Given the description of an element on the screen output the (x, y) to click on. 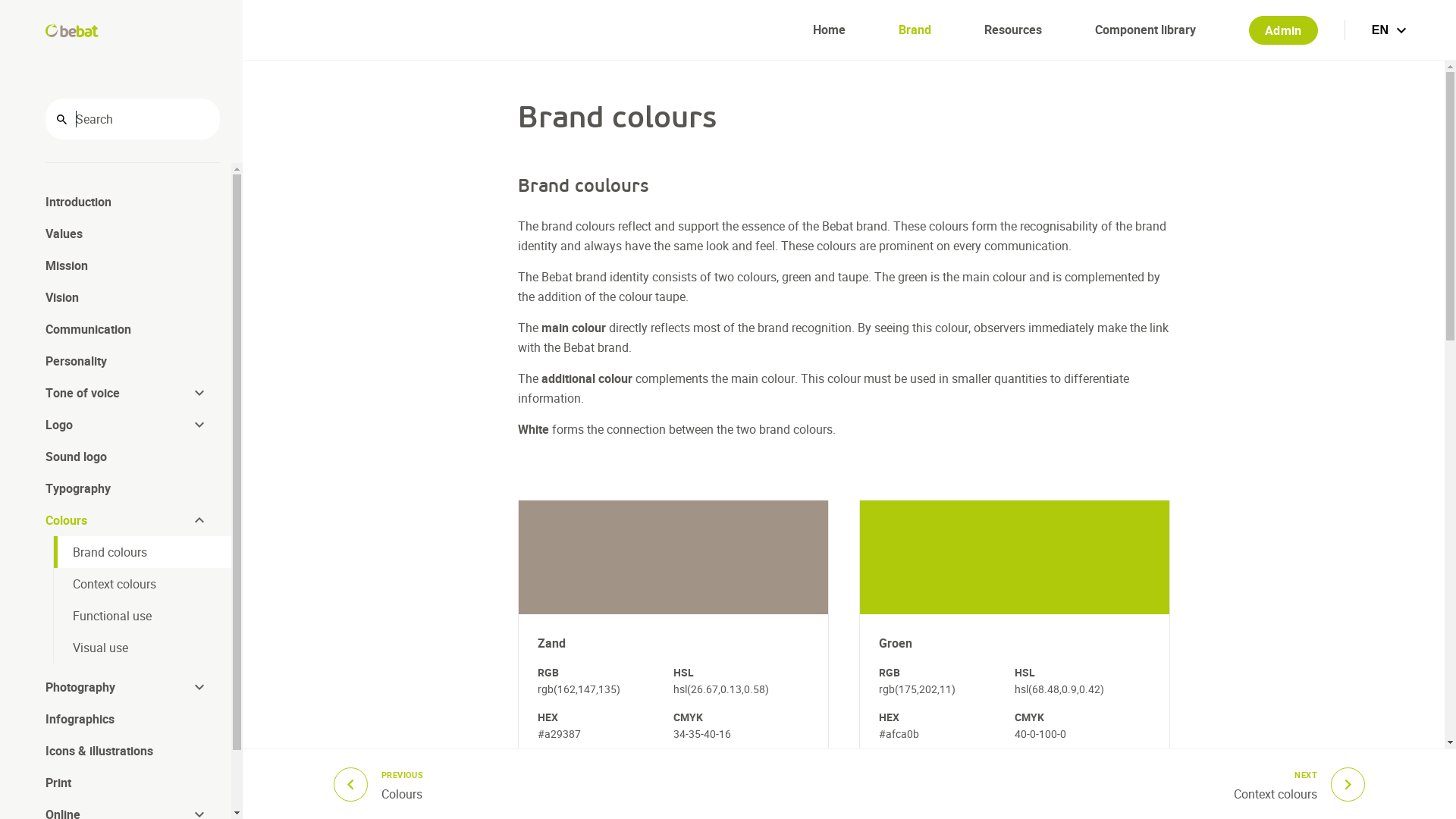
Vision Element type: text (126, 297)
Tone of voice Element type: text (117, 392)
Introduction Element type: text (126, 201)
Resources Element type: text (1012, 29)
Brand Element type: text (914, 29)
NEXT
Context colours Element type: text (1299, 783)
Communication Element type: text (126, 329)
Colours Element type: text (117, 520)
Visual use Element type: text (142, 647)
Print Element type: text (126, 782)
Sound logo Element type: text (126, 456)
Functional use Element type: text (142, 615)
Photography Element type: text (117, 686)
Logo Element type: text (117, 424)
Icons & illustrations Element type: text (126, 750)
Component library Element type: text (1145, 29)
Values Element type: text (126, 233)
Infographics Element type: text (126, 718)
Personality Element type: text (126, 360)
PREVIOUS
Colours Element type: text (378, 783)
Mission Element type: text (126, 265)
Admin Element type: text (1282, 29)
EN Element type: text (1390, 29)
Brand colours Element type: text (142, 551)
Home Element type: text (828, 29)
Typography Element type: text (126, 488)
Bebat Element type: hover (71, 29)
Context colours Element type: text (142, 583)
